Given the description of an element on the screen output the (x, y) to click on. 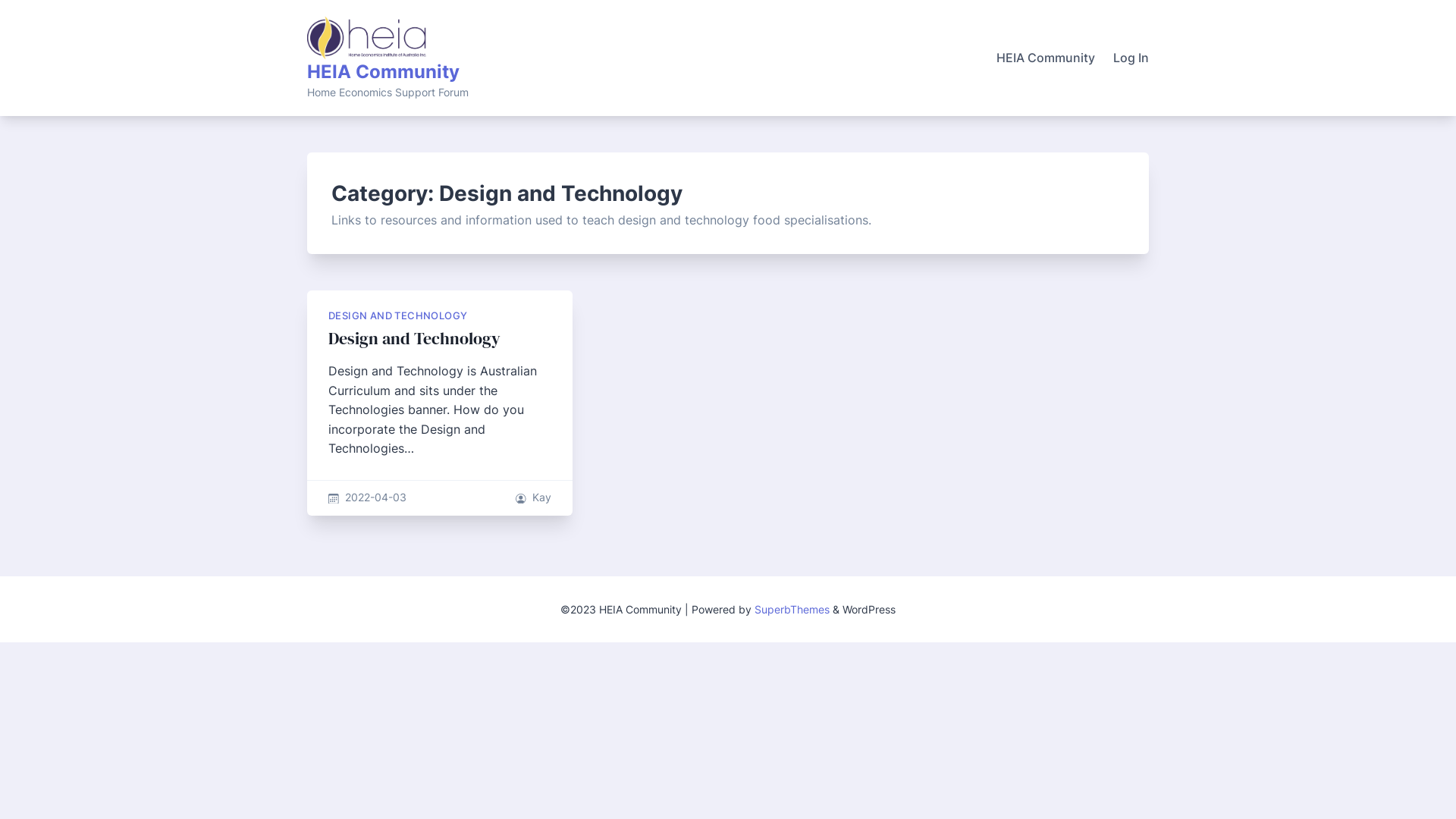
HEIA Community Element type: text (383, 71)
HEIA Community Element type: text (1045, 58)
2022-04-03 Element type: text (375, 497)
SuperbThemes Element type: text (791, 608)
Design and Technology Element type: text (414, 338)
Kay Element type: text (541, 497)
DESIGN AND TECHNOLOGY Element type: text (397, 315)
Log In Element type: text (1130, 58)
